Given the description of an element on the screen output the (x, y) to click on. 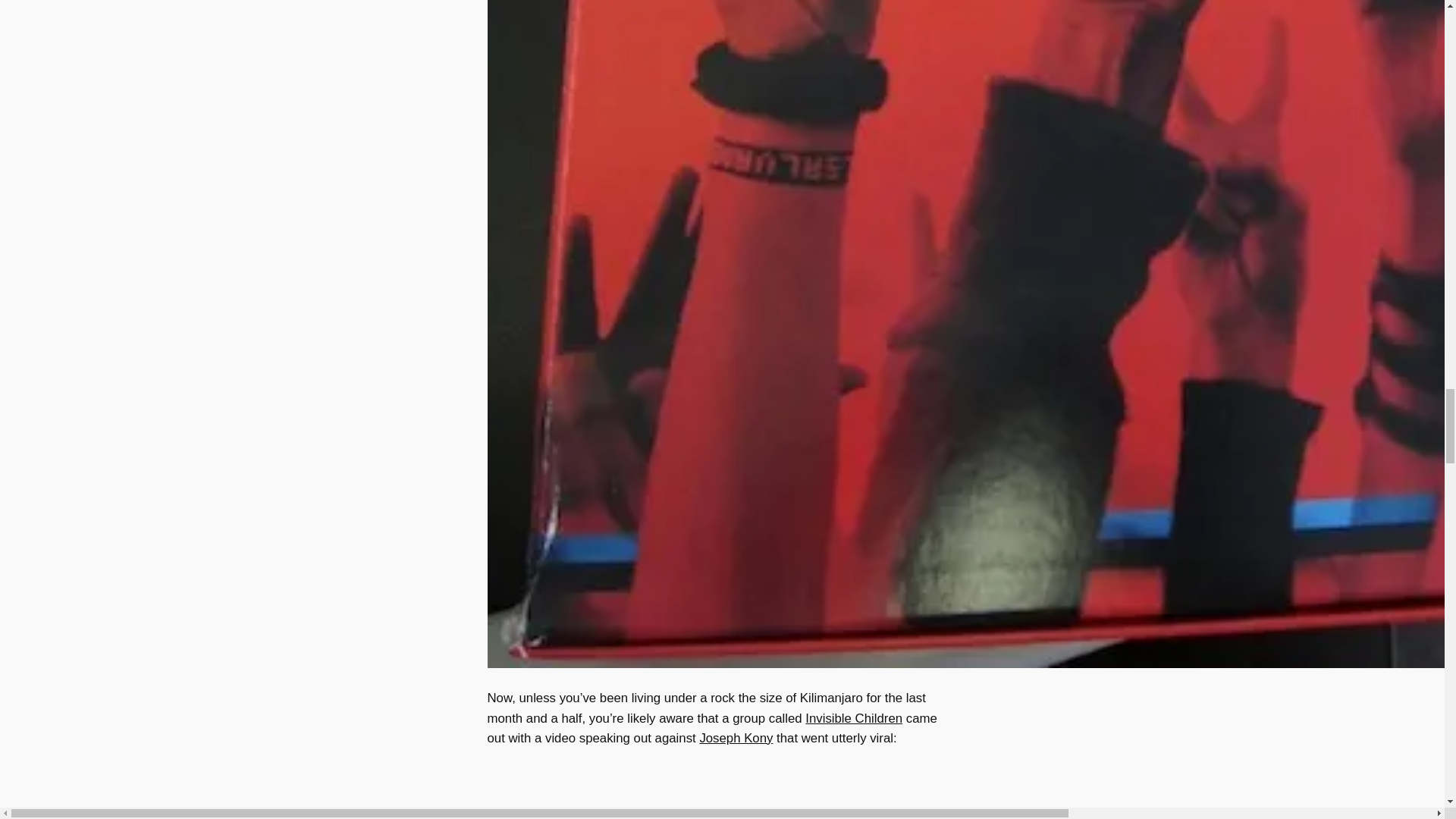
Invisible Children (853, 718)
Joseph Kony (735, 738)
Invisible Children (853, 718)
Joseph Kony (735, 738)
